Given the description of an element on the screen output the (x, y) to click on. 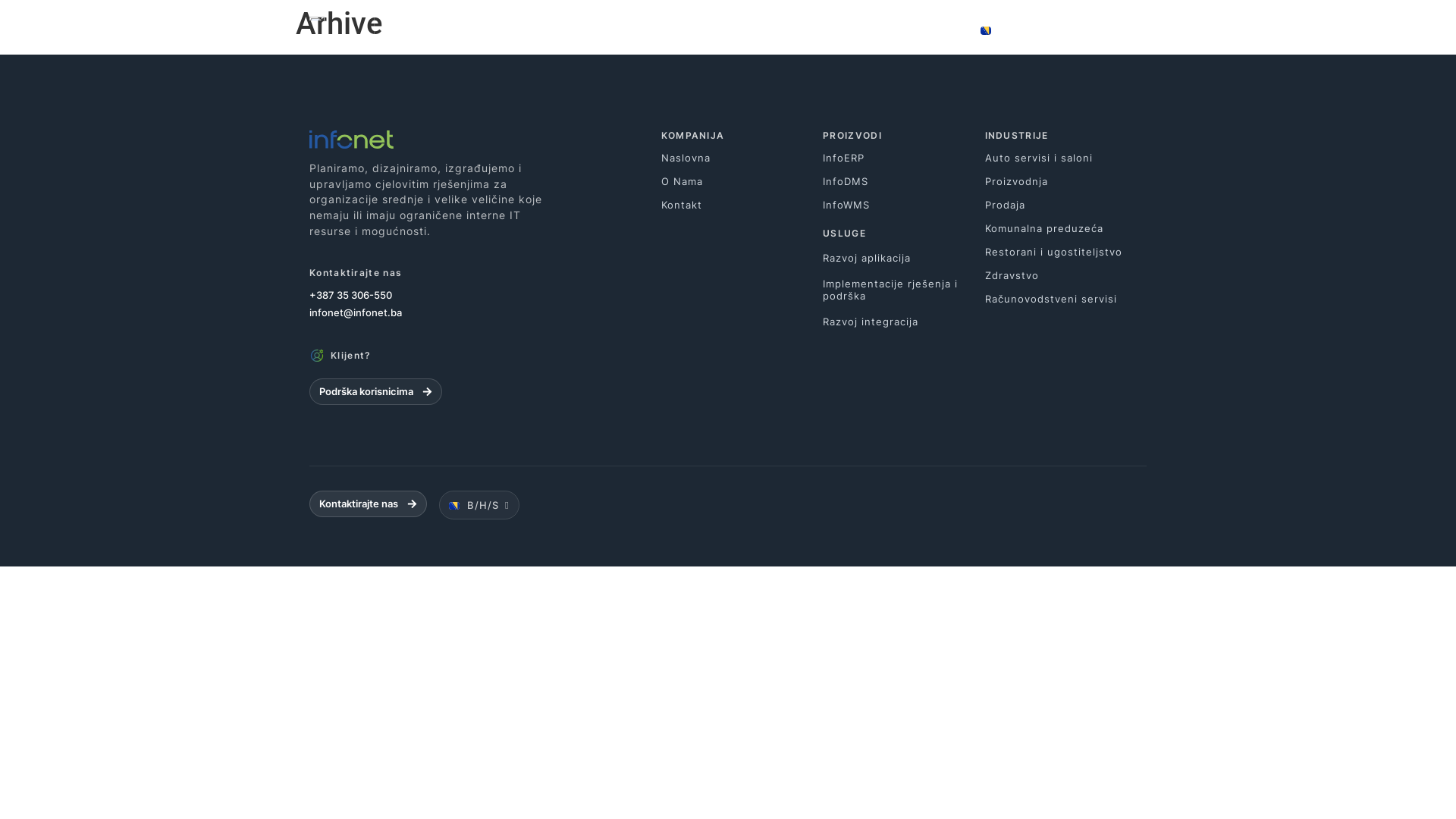
O Nama Element type: text (741, 181)
O Nama Element type: text (875, 29)
InfoDMS Element type: text (903, 181)
Zdravstvo Element type: text (1065, 275)
Kontakt Element type: text (741, 205)
InfoWMS Element type: text (903, 205)
Kontaktirajte nas Element type: text (367, 503)
Razvoj aplikacija Element type: text (903, 257)
B/H/S Element type: text (1010, 30)
infonet@infonet.ba Element type: text (485, 312)
InfoERP Element type: text (903, 158)
B/H/S Element type: text (479, 504)
B/H/S Element type: text (1010, 29)
Prodaja Element type: text (1065, 205)
Kontakt Element type: text (1093, 29)
Razvoj integracija Element type: text (903, 321)
Proizvodnja Element type: text (1065, 181)
Auto servisi i saloni Element type: text (1065, 158)
Restorani i ugostiteljstvo Element type: text (1065, 252)
Naslovna Element type: text (741, 158)
B/H/S Element type: text (478, 504)
